Given the description of an element on the screen output the (x, y) to click on. 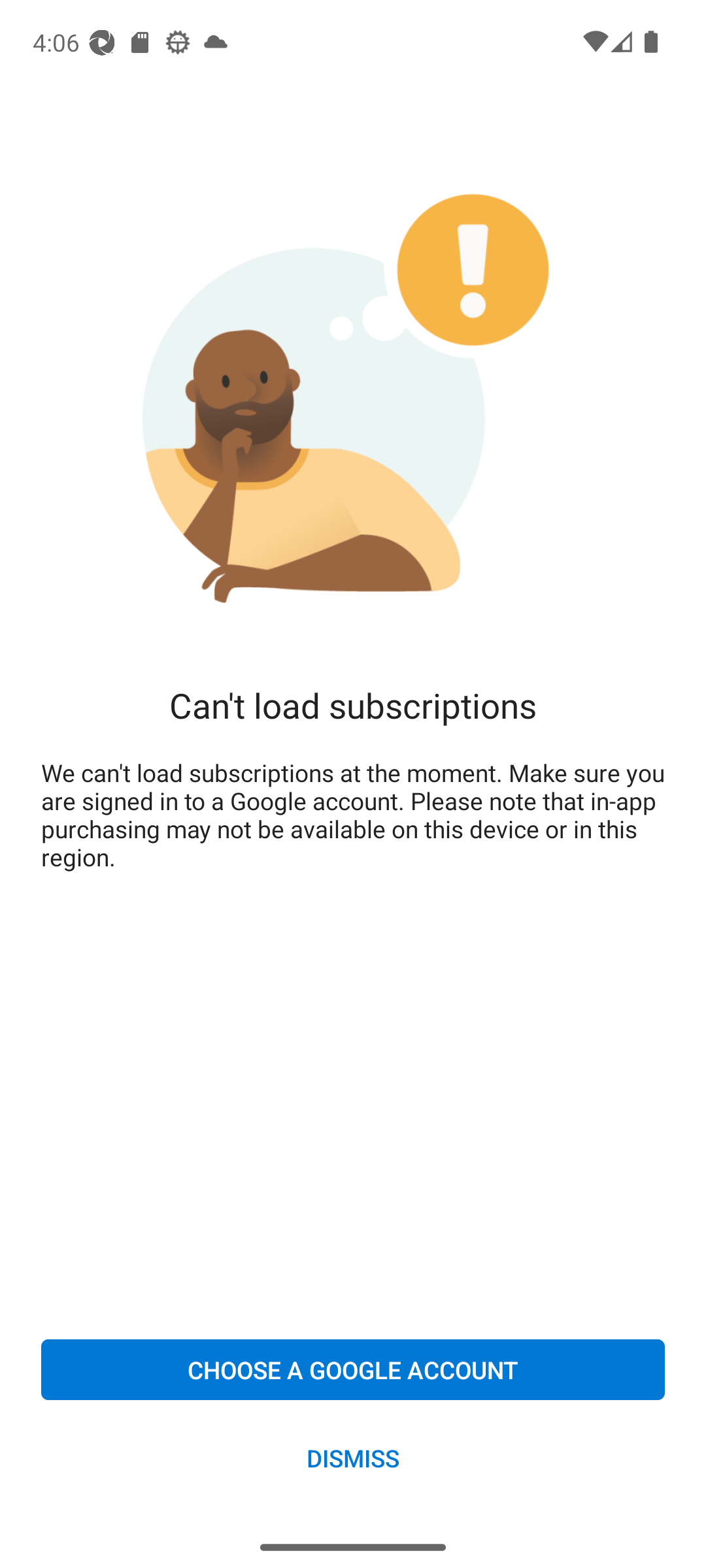
CHOOSE A GOOGLE ACCOUNT (352, 1369)
DISMISS (352, 1457)
